Given the description of an element on the screen output the (x, y) to click on. 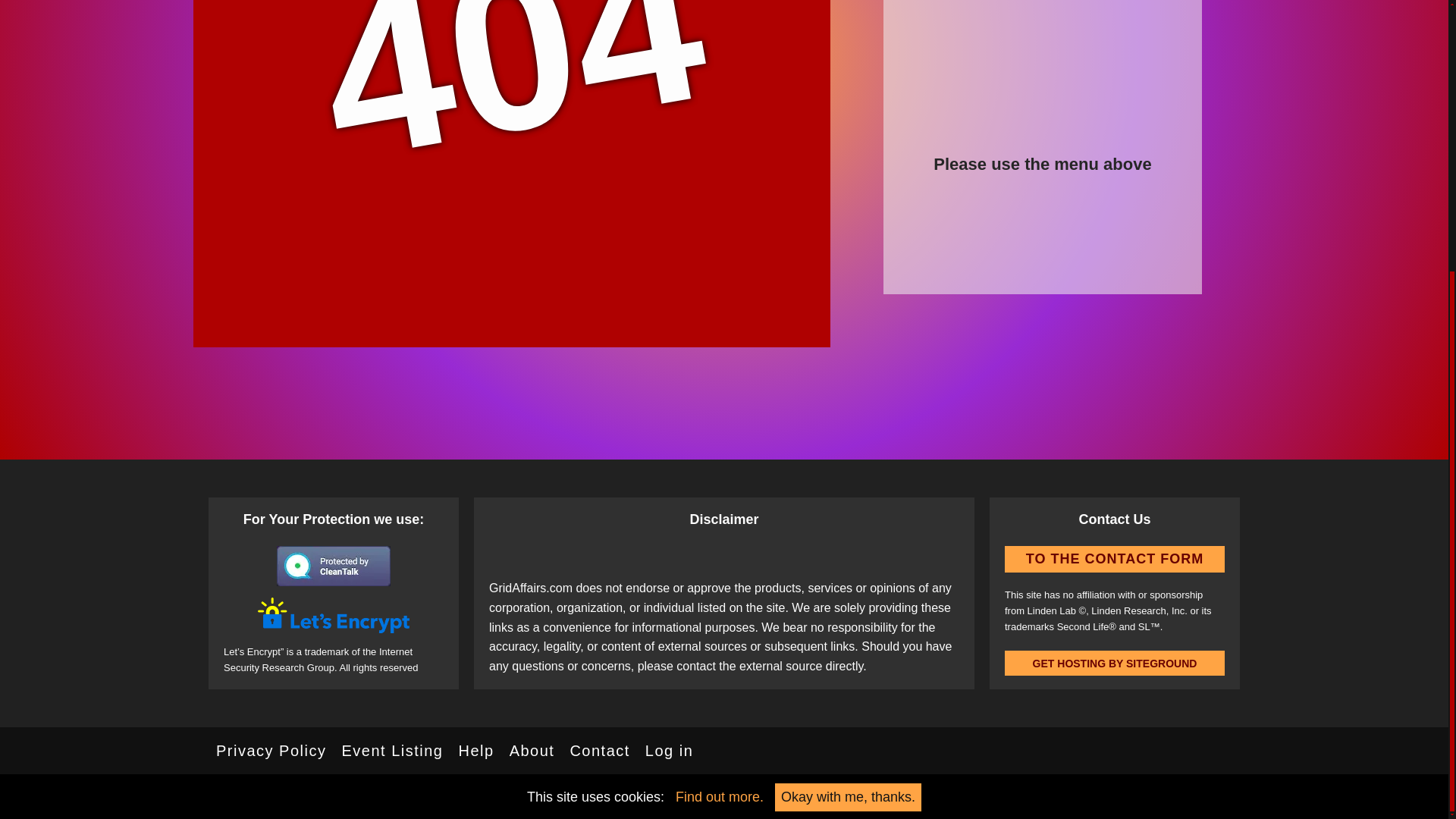
Find out more. (718, 397)
About (532, 750)
Help (474, 750)
Okay with me, thanks. (847, 397)
Contact (599, 750)
Event Listing (391, 750)
Privacy Policy (270, 750)
GET HOSTING BY SITEGROUND (1114, 662)
Log in (669, 750)
TO THE CONTACT FORM (1114, 559)
